Given the description of an element on the screen output the (x, y) to click on. 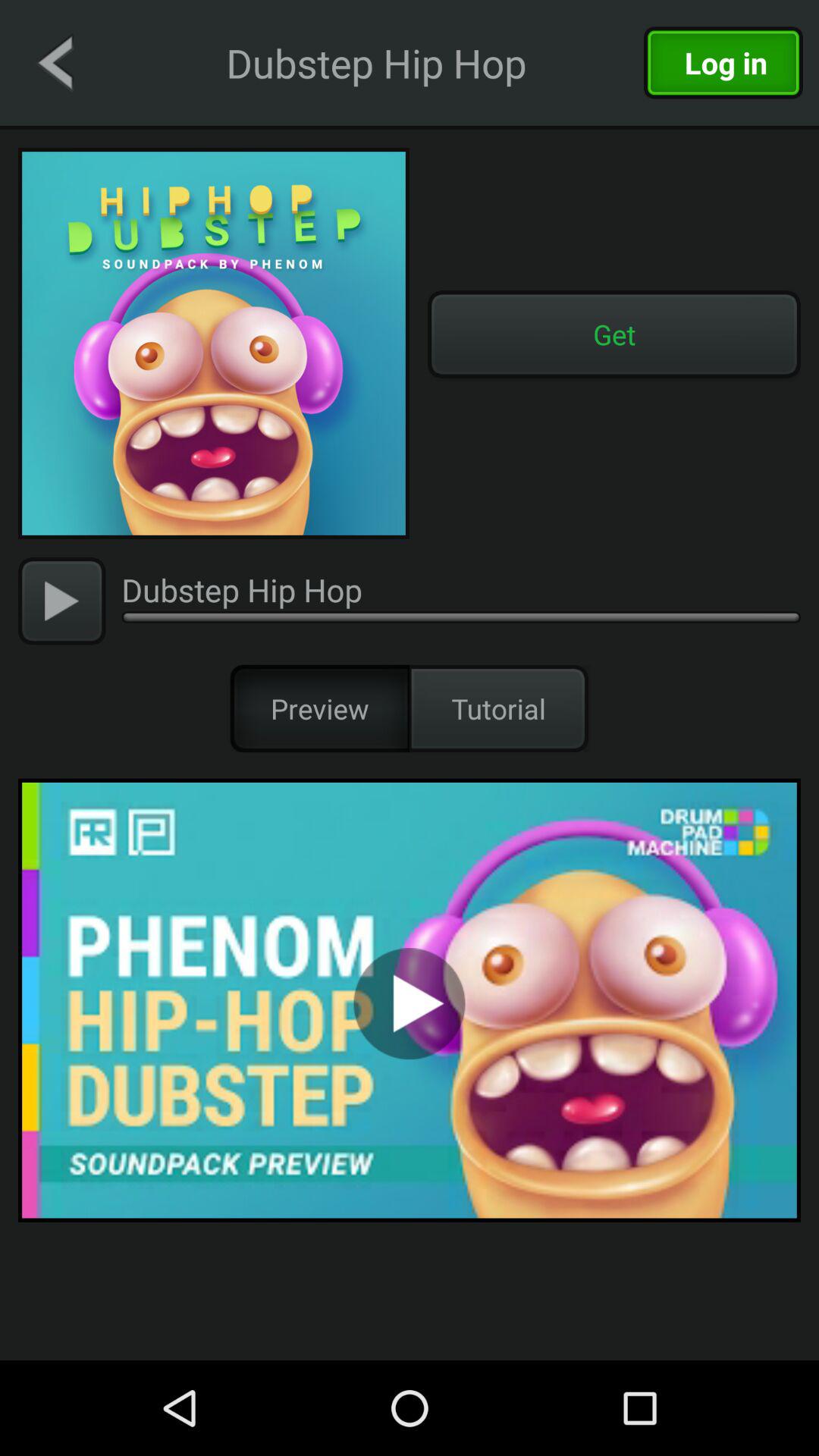
go back button (54, 62)
